Given the description of an element on the screen output the (x, y) to click on. 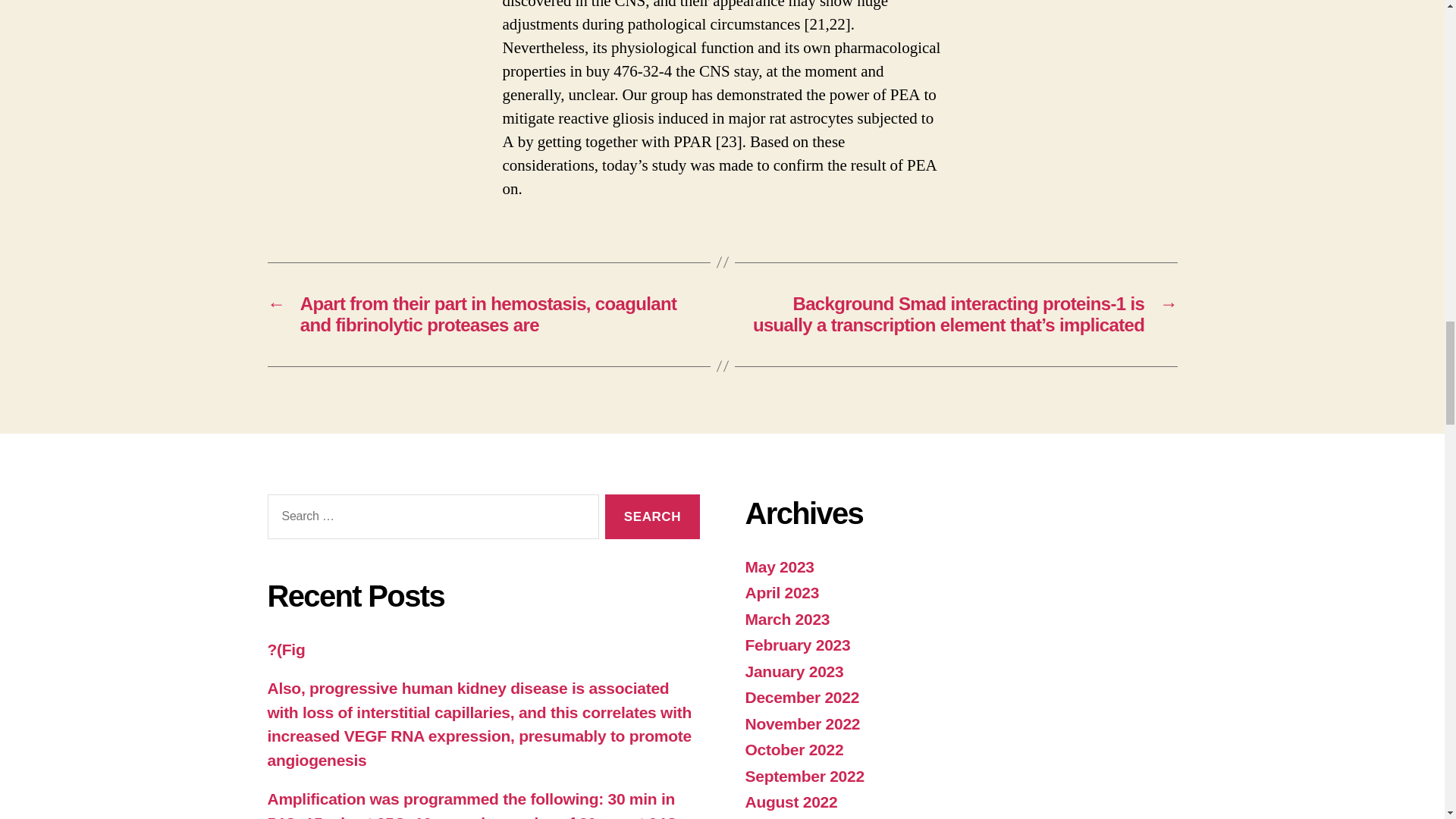
March 2023 (786, 619)
August 2022 (790, 801)
September 2022 (803, 775)
Search (651, 516)
October 2022 (793, 749)
May 2023 (778, 566)
February 2023 (797, 644)
December 2022 (801, 696)
January 2023 (793, 671)
